Given the description of an element on the screen output the (x, y) to click on. 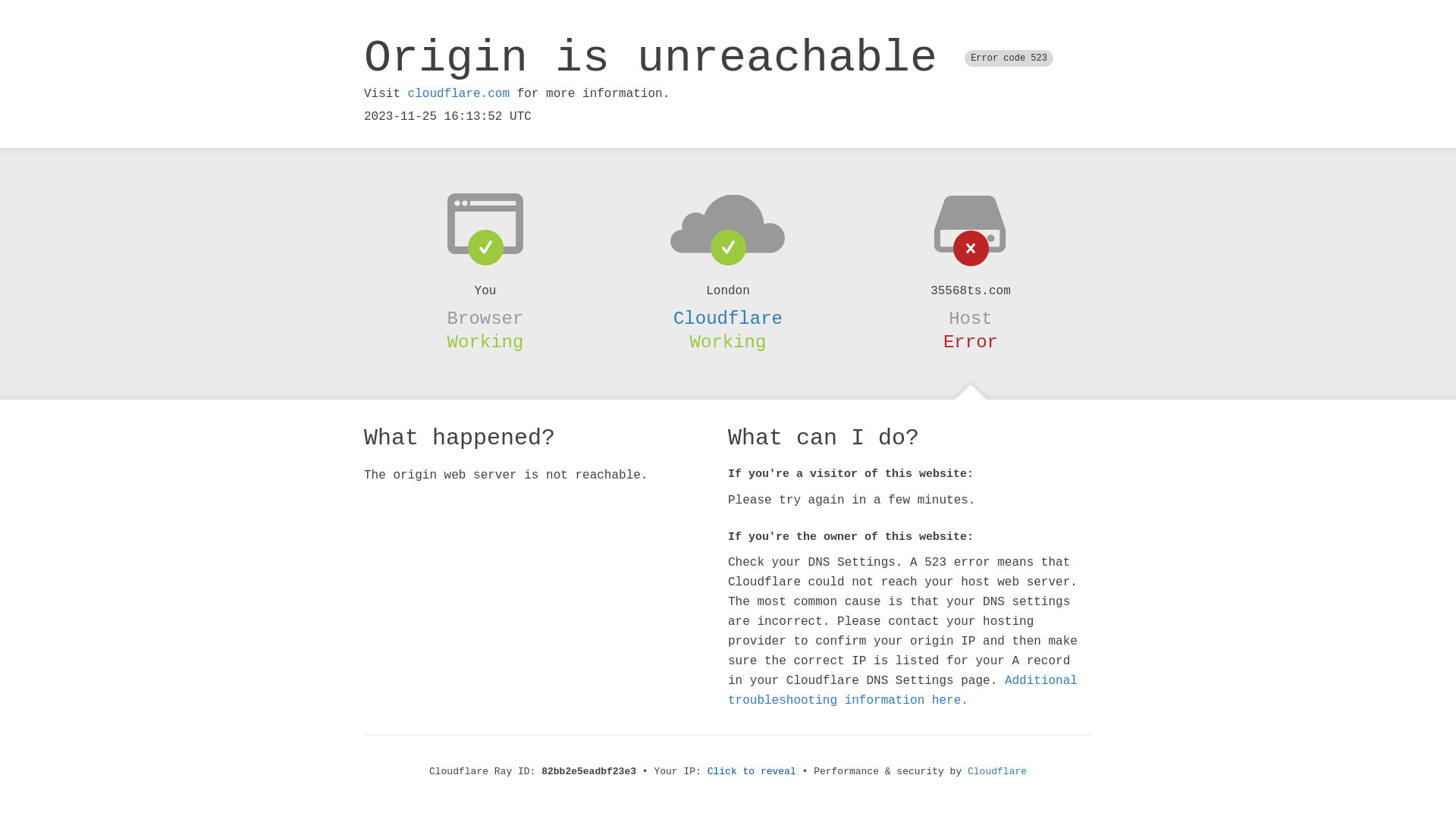
Cloudflare Element type: text (996, 771)
Click to reveal Element type: text (751, 771)
Cloudflare Element type: text (727, 318)
Additional troubleshooting information here. Element type: text (902, 690)
cloudflare.com Element type: text (458, 93)
